Given the description of an element on the screen output the (x, y) to click on. 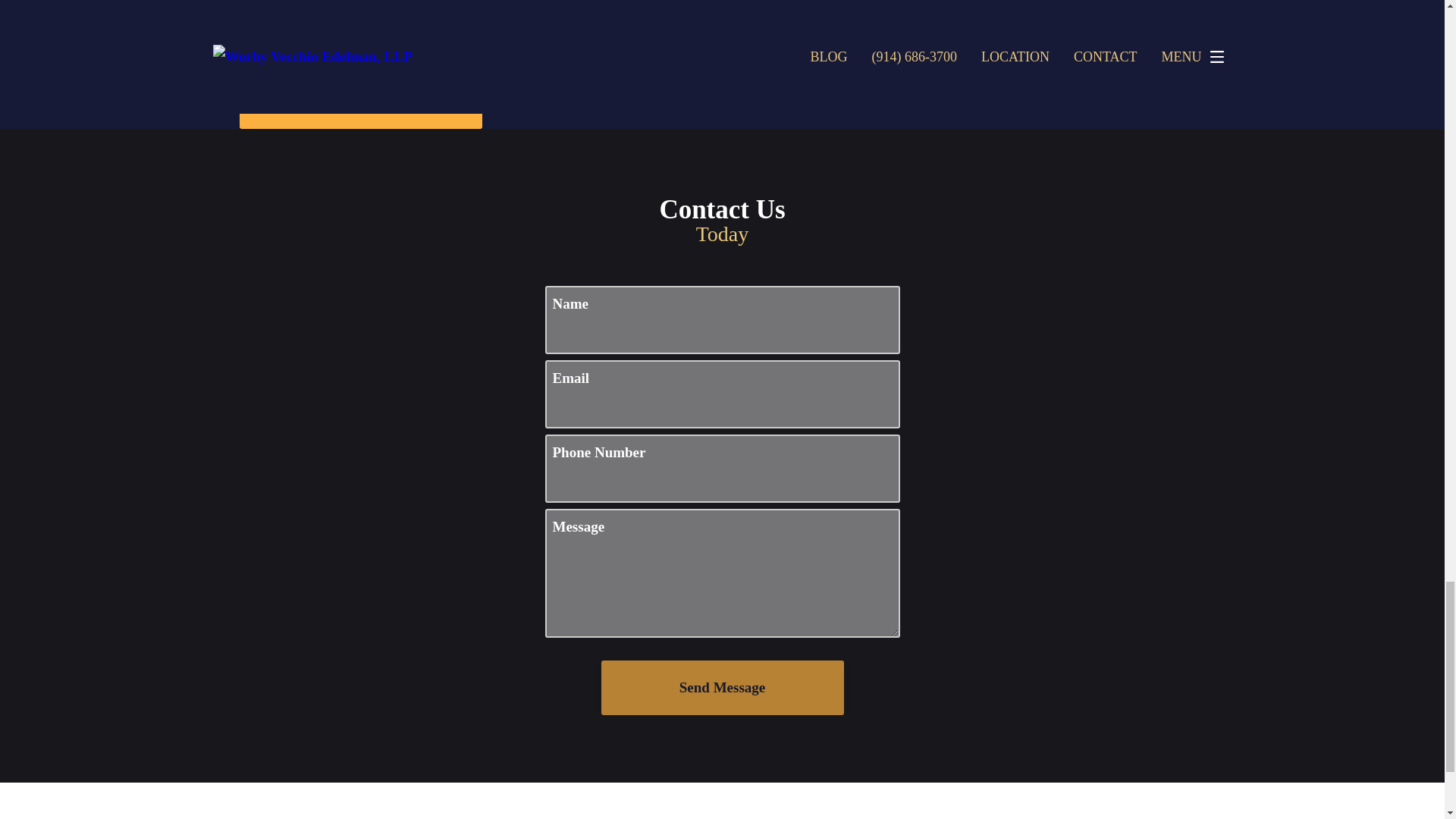
Directions (360, 36)
Send Message (721, 687)
